Given the description of an element on the screen output the (x, y) to click on. 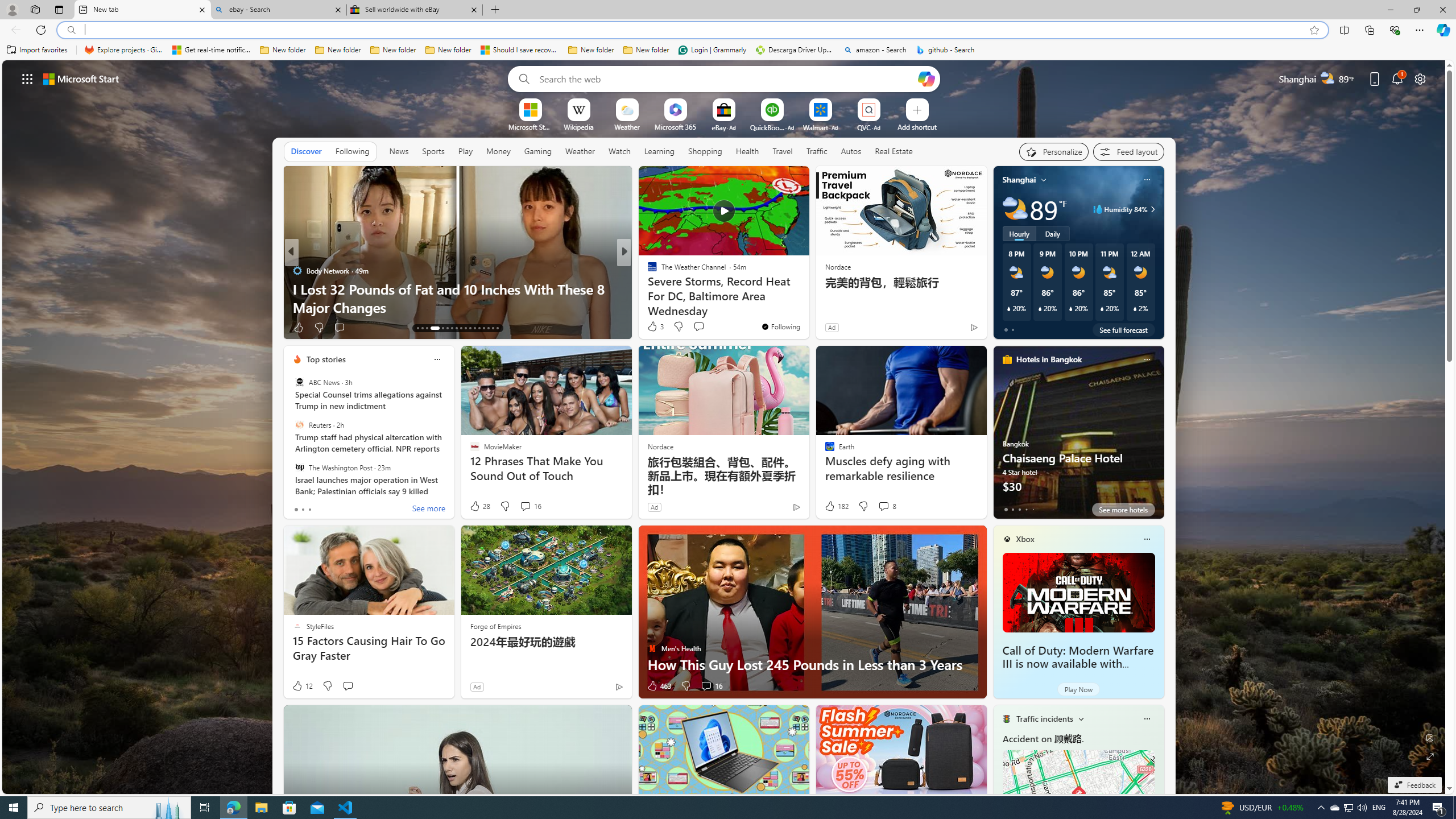
Learning (658, 151)
Las Vegas Strip visitors face outrageous new fee (807, 307)
Reuters (299, 424)
AutomationID: tab-13 (417, 328)
Play (465, 151)
Address and search bar (692, 29)
